Given the description of an element on the screen output the (x, y) to click on. 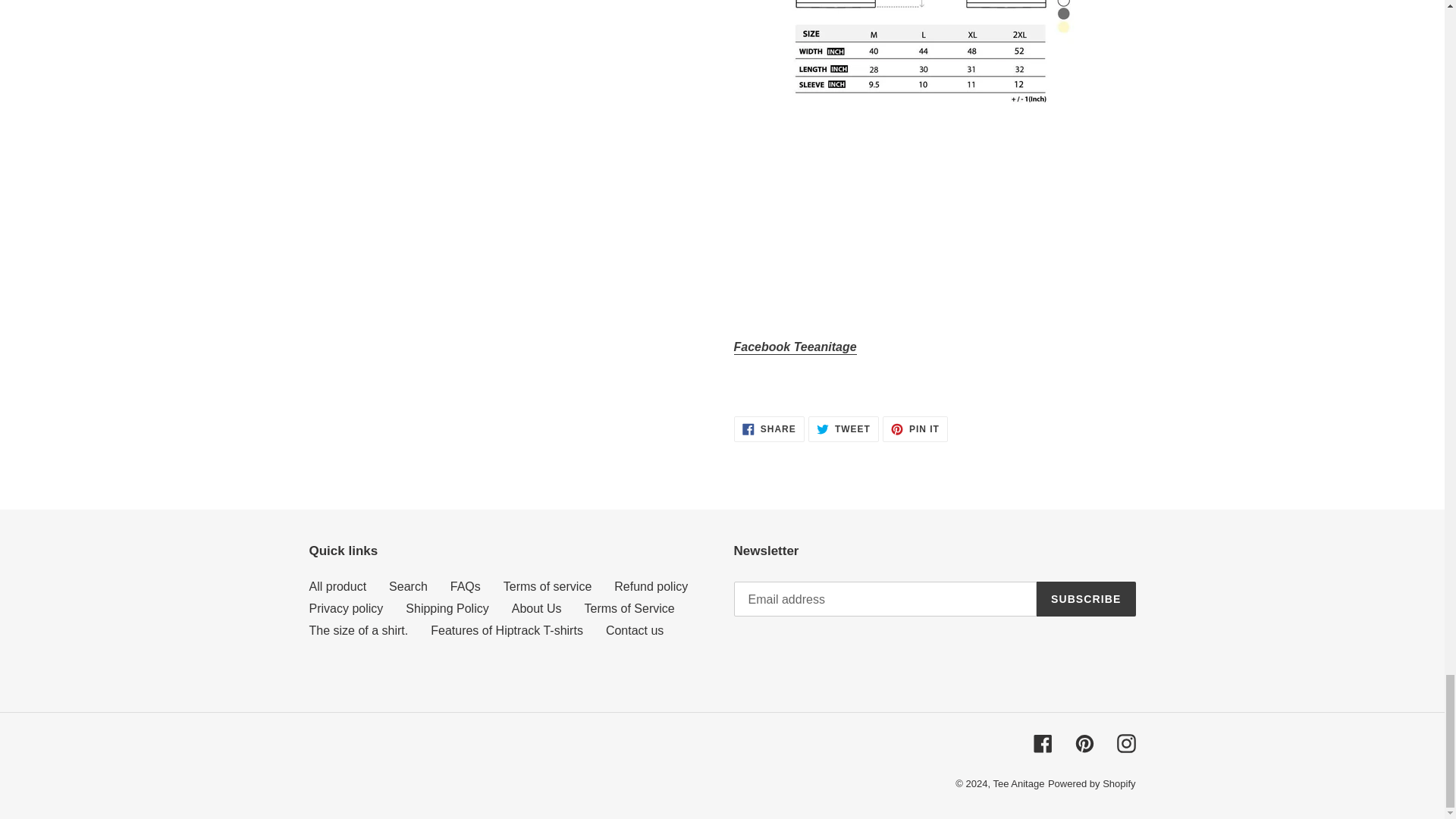
Facebook Teeanitage (795, 347)
